Given the description of an element on the screen output the (x, y) to click on. 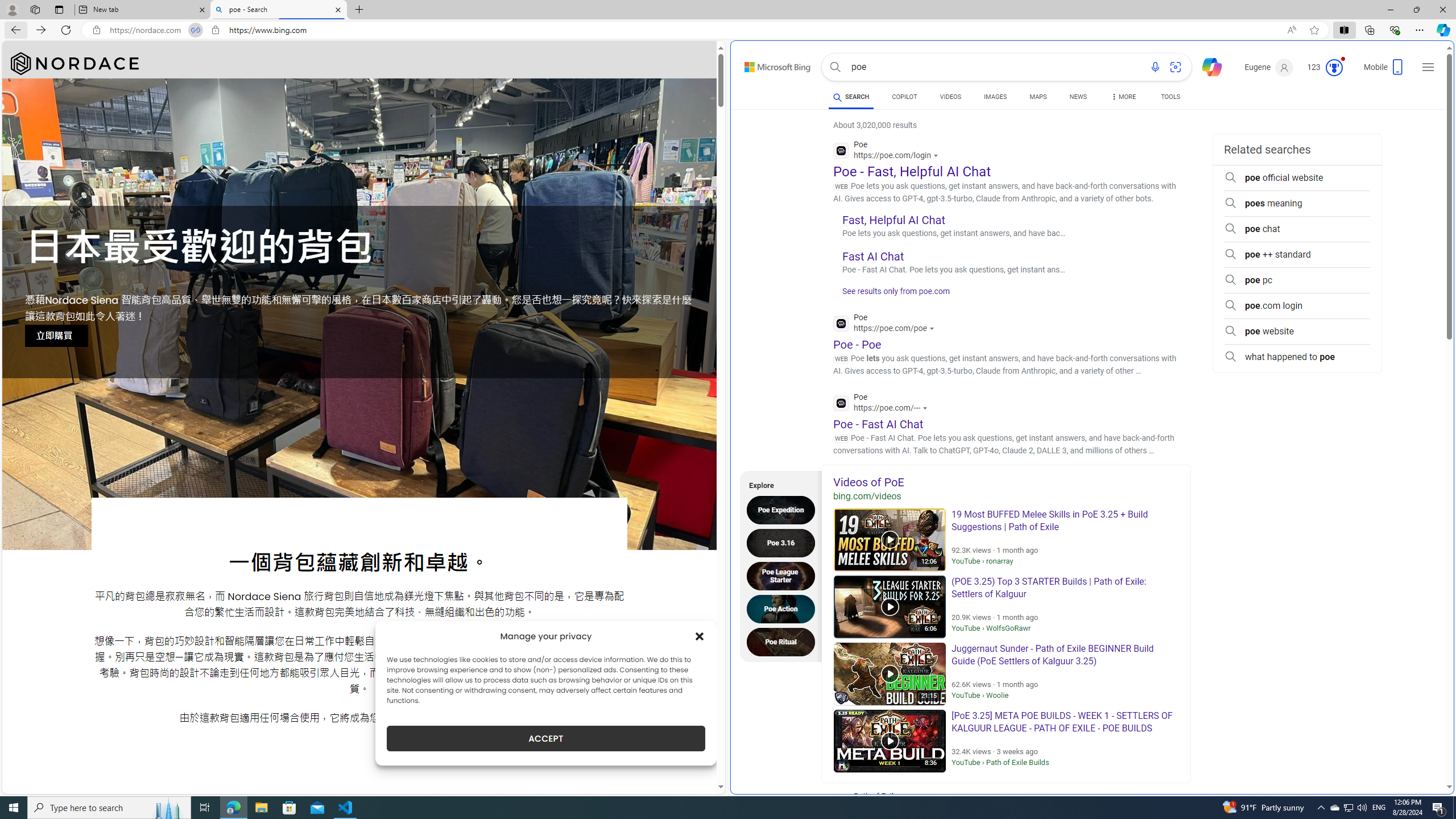
Explore (777, 483)
poe official website (1297, 177)
NEWS (1078, 98)
poe - Search (277, 9)
Chat (1207, 65)
Search using an image (1174, 66)
poe.com login (1297, 305)
SEARCH (850, 96)
Dropdown Menu (1123, 96)
IMAGES (995, 98)
poe website (1297, 331)
